Given the description of an element on the screen output the (x, y) to click on. 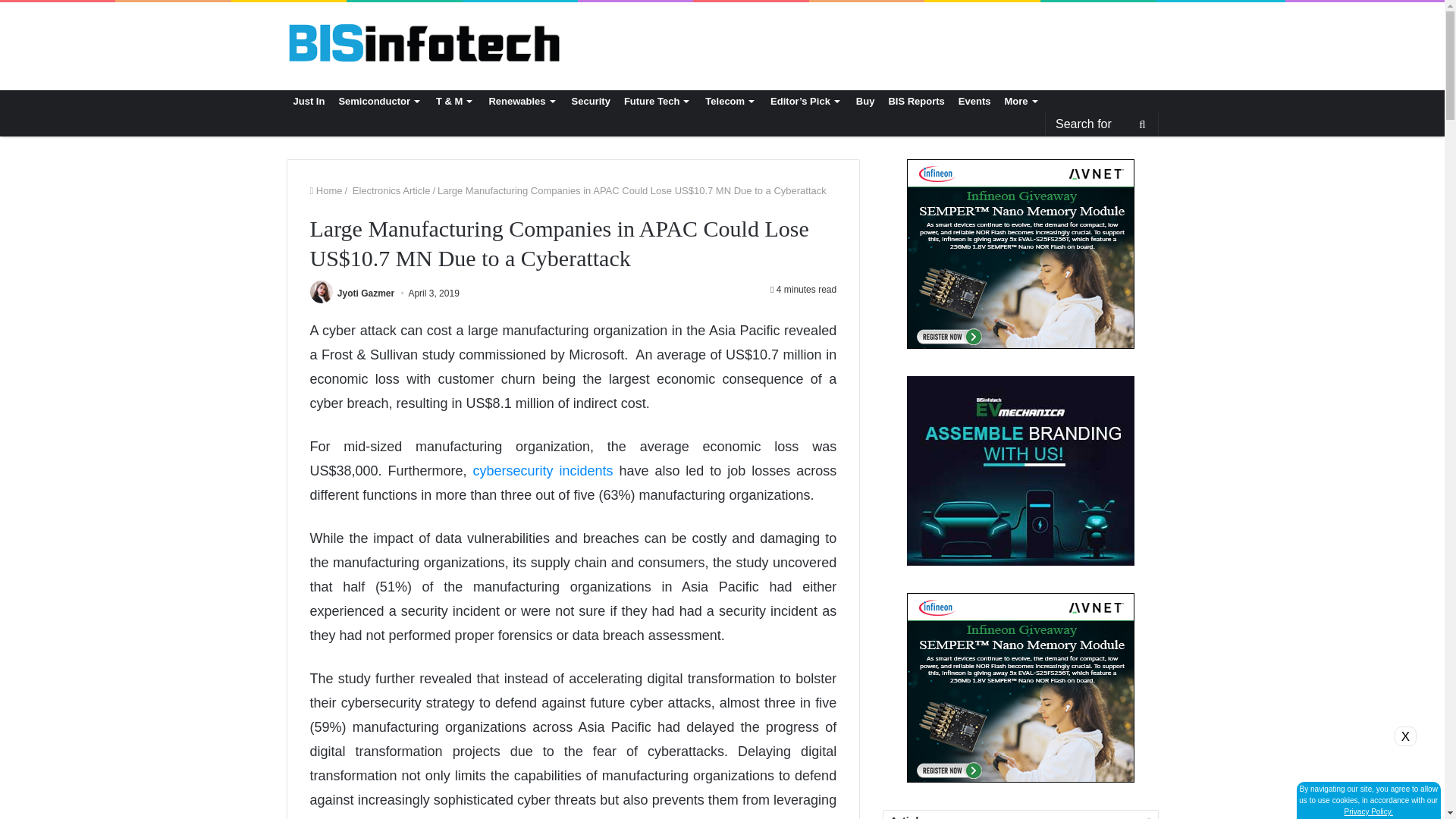
Security (590, 101)
Renewables (522, 101)
X (1405, 736)
Electronic News, Electronic Products and parts in India (424, 41)
Semiconductor (380, 101)
Search for (1101, 124)
Just In (308, 101)
Jyoti Gazmer (365, 293)
Telecom (730, 101)
Future Tech (657, 101)
